Given the description of an element on the screen output the (x, y) to click on. 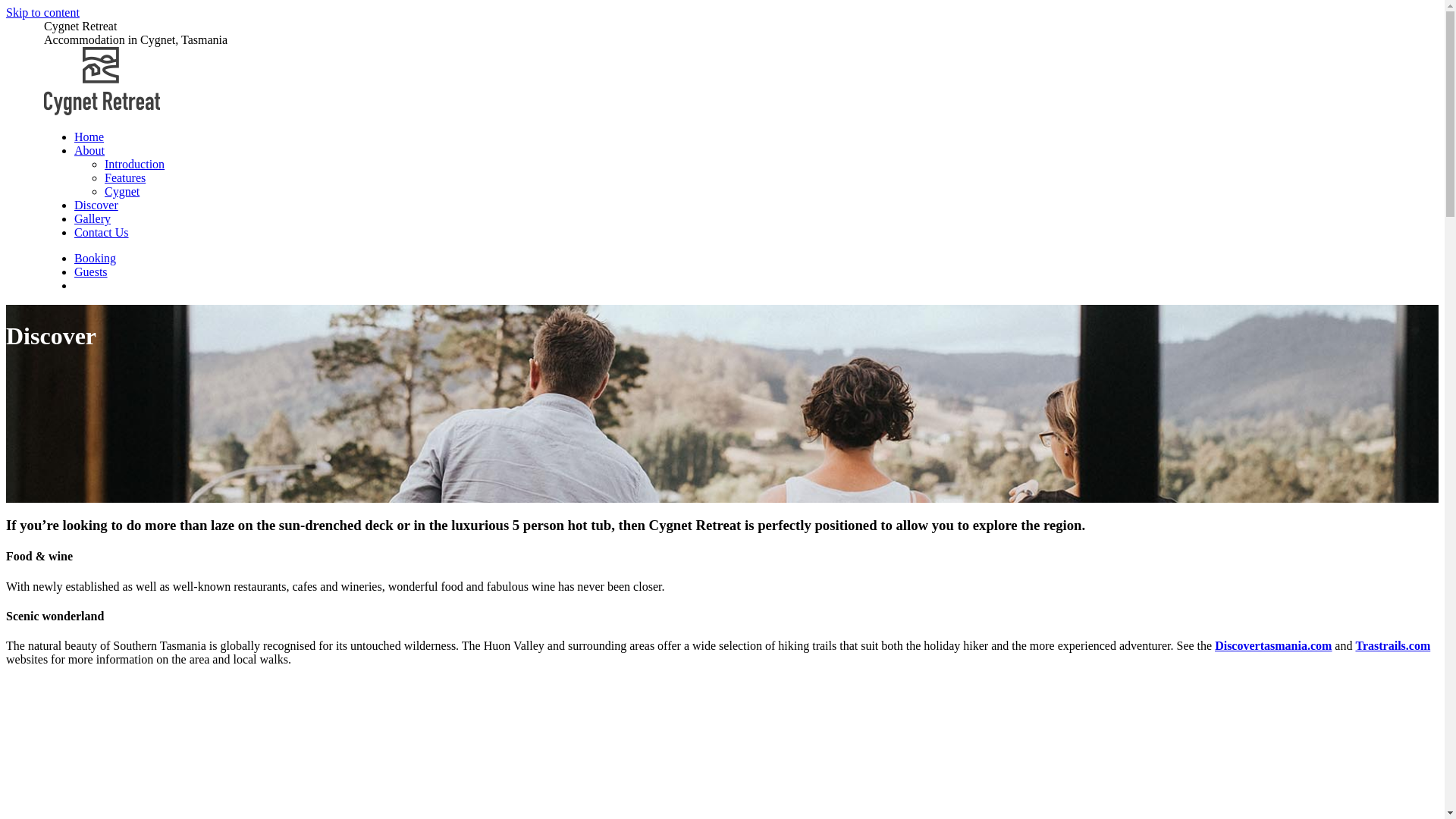
Trastrails.com Element type: text (1392, 645)
Discovertasmania.com Element type: text (1272, 645)
Guests Element type: text (90, 271)
Skip to content Element type: text (722, 12)
Gallery Element type: text (92, 218)
Home Element type: text (88, 136)
Introduction Element type: text (134, 163)
Cygnet Element type: text (121, 191)
About Element type: text (89, 150)
Booking Element type: text (95, 257)
Discover Element type: text (96, 204)
Features Element type: text (124, 177)
Contact Us Element type: text (101, 231)
